Given the description of an element on the screen output the (x, y) to click on. 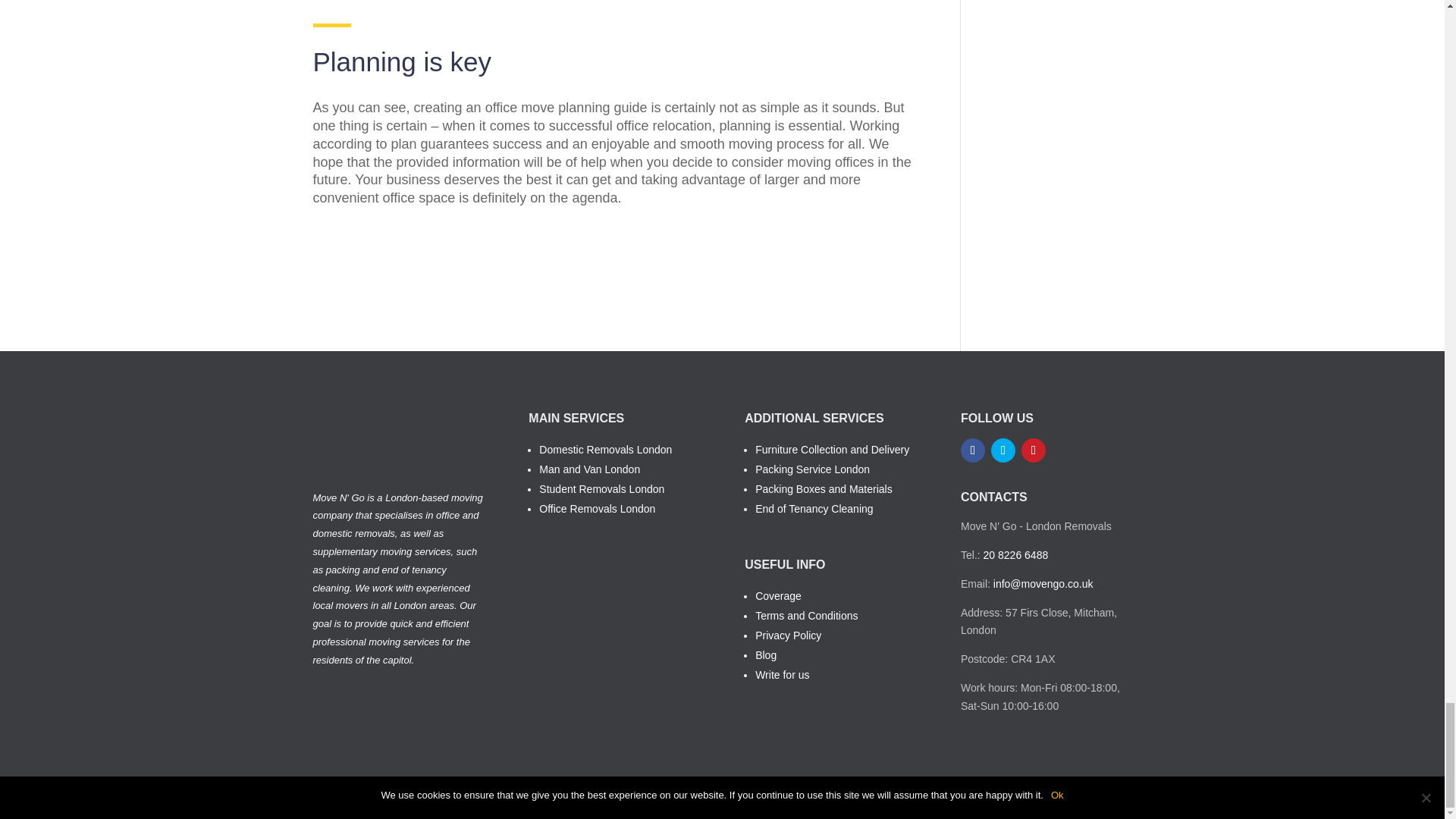
Packing Boxes and Materials (823, 489)
Blog (765, 654)
Privacy Policy (788, 635)
Coverage (778, 595)
Follow on Pinterest (1033, 450)
Man and Van London (589, 469)
Office Removals London (596, 508)
Furniture Collection and Delivery (831, 449)
Student Removals London (600, 489)
Domestic Removals London (604, 449)
Terms and Conditions (806, 615)
20 8226 6488 (1016, 554)
Packing Service London (812, 469)
Follow on Facebook (972, 450)
Write for us (782, 674)
